Given the description of an element on the screen output the (x, y) to click on. 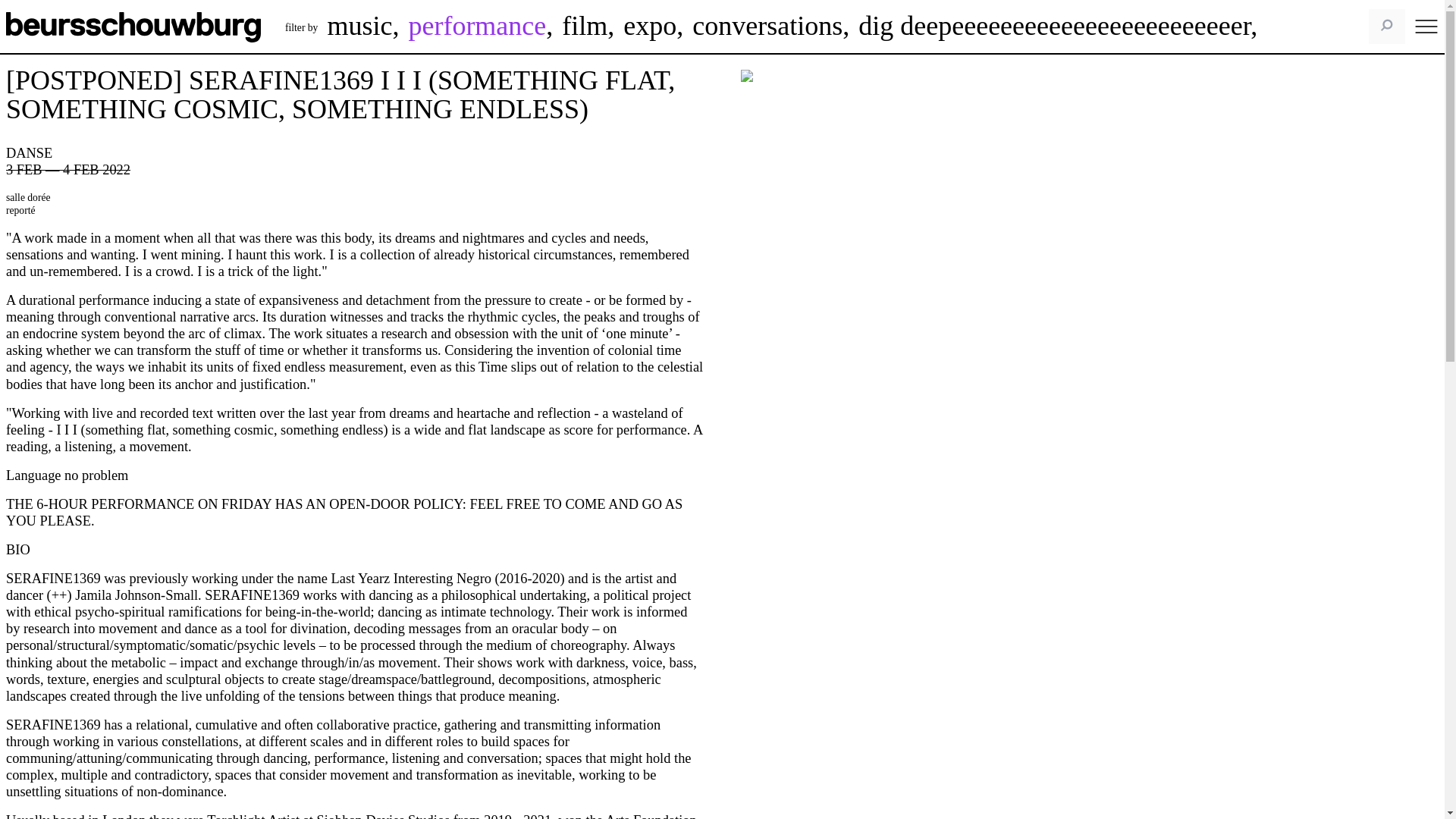
conversations (768, 25)
music (358, 25)
expo (650, 25)
dig deepeeeeeeeeeeeeeeeeeeeeeeeer (1054, 25)
film (584, 25)
performance (476, 25)
